Given the description of an element on the screen output the (x, y) to click on. 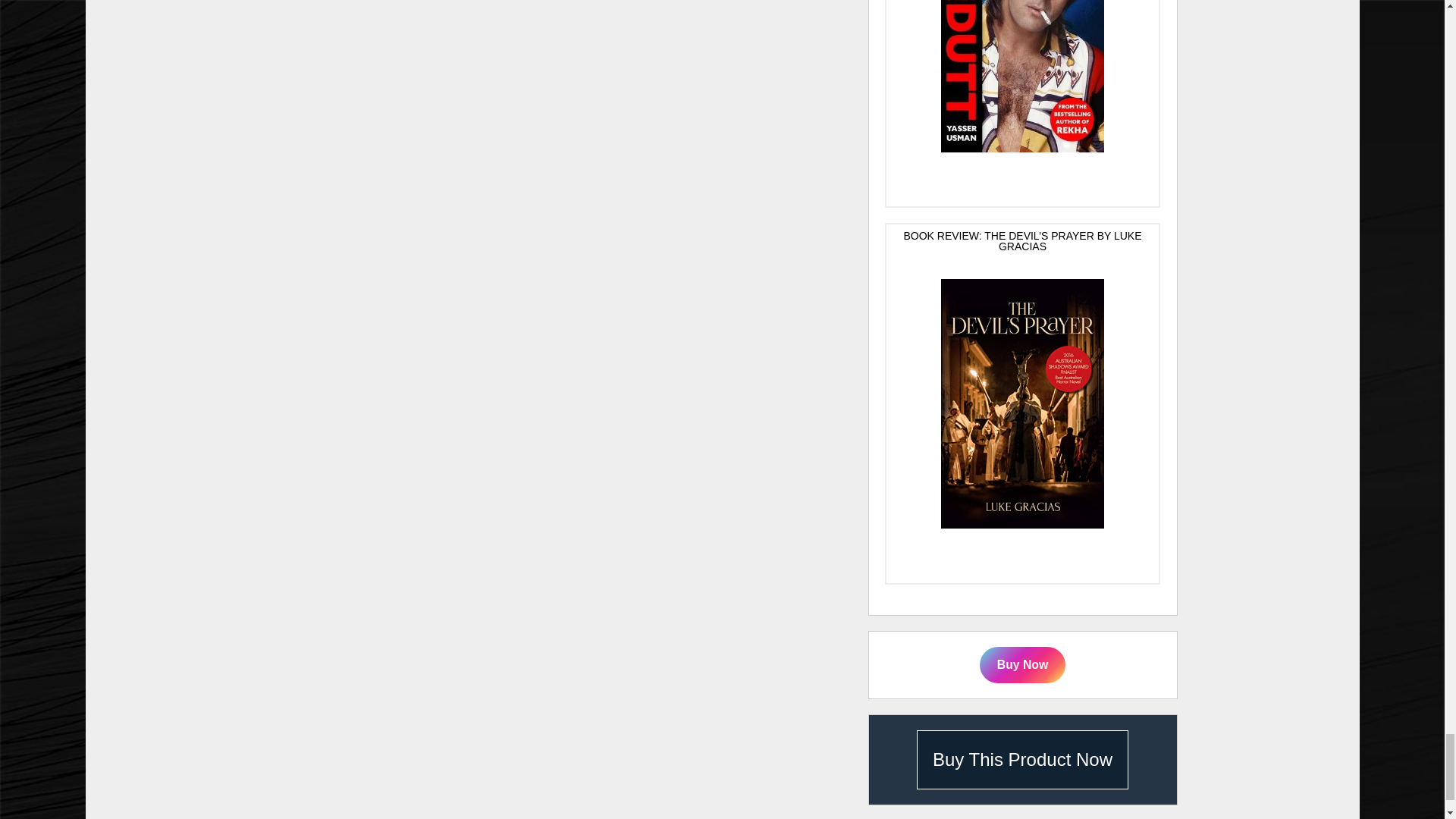
Buy This Product Now (1022, 759)
Buy Now (1022, 665)
